Given the description of an element on the screen output the (x, y) to click on. 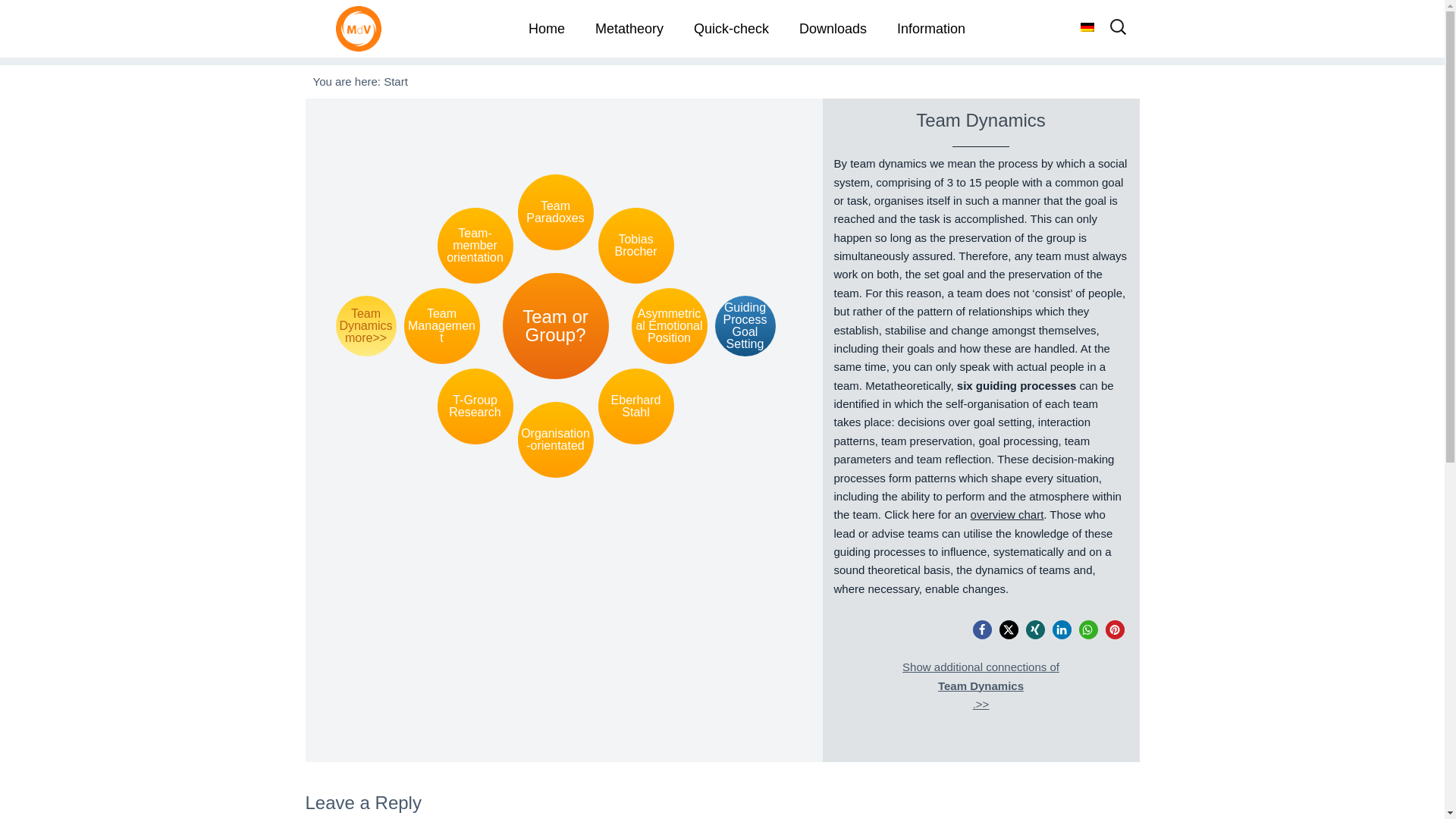
Quick-check (731, 28)
Share on Facebook (981, 629)
Home (546, 28)
Information (930, 28)
Search for: (1118, 31)
Guiding Process Goal Setting (744, 325)
Search (42, 18)
Asymmetrical Emotional Position (668, 325)
